Given the description of an element on the screen output the (x, y) to click on. 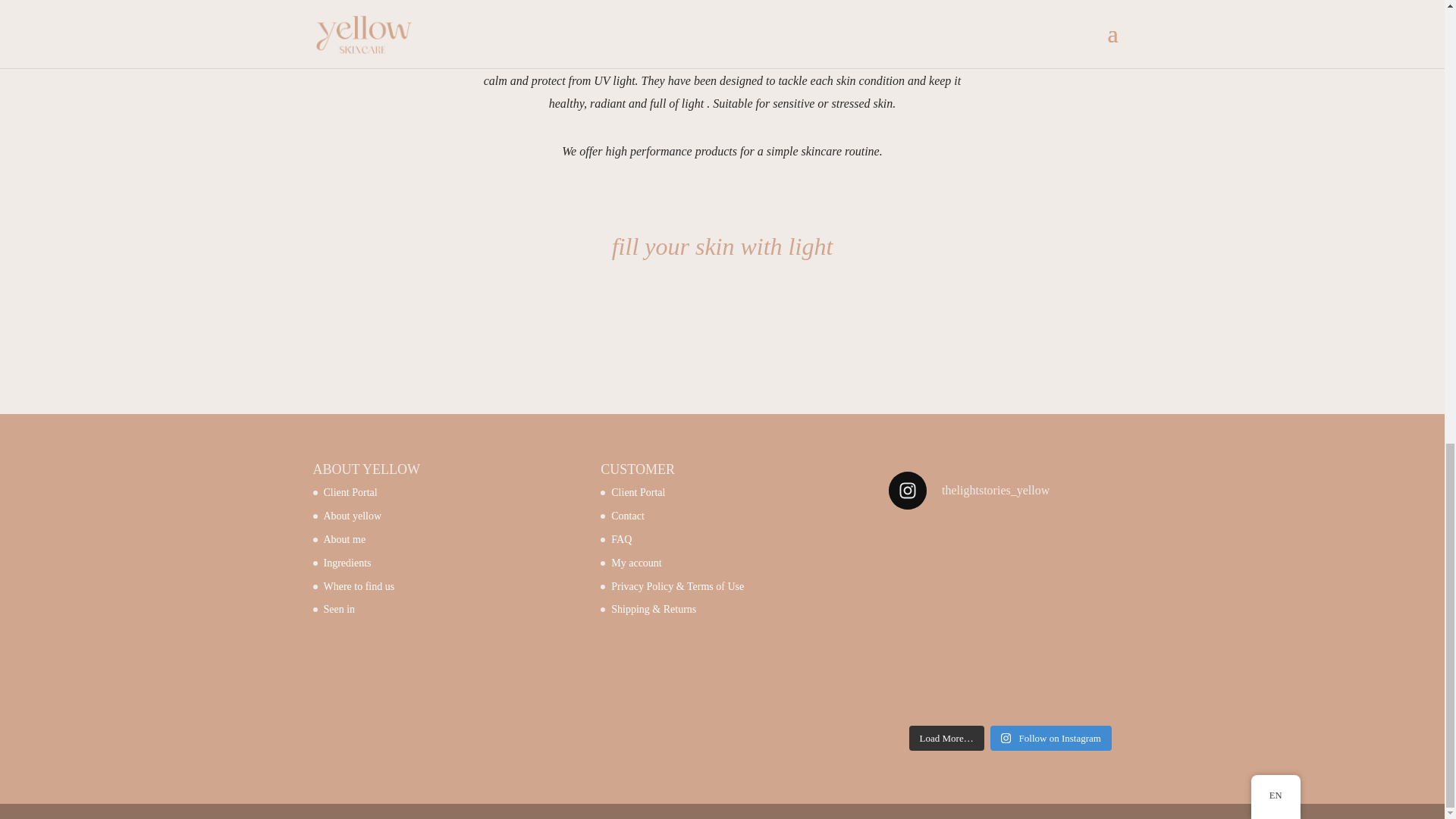
Client Portal (638, 491)
FAQ (621, 539)
Seen in (339, 609)
Contact (628, 515)
About me (344, 539)
Where to find us (358, 586)
About yellow (352, 515)
Ingredients (347, 562)
Client Portal (350, 491)
My account (636, 562)
